Given the description of an element on the screen output the (x, y) to click on. 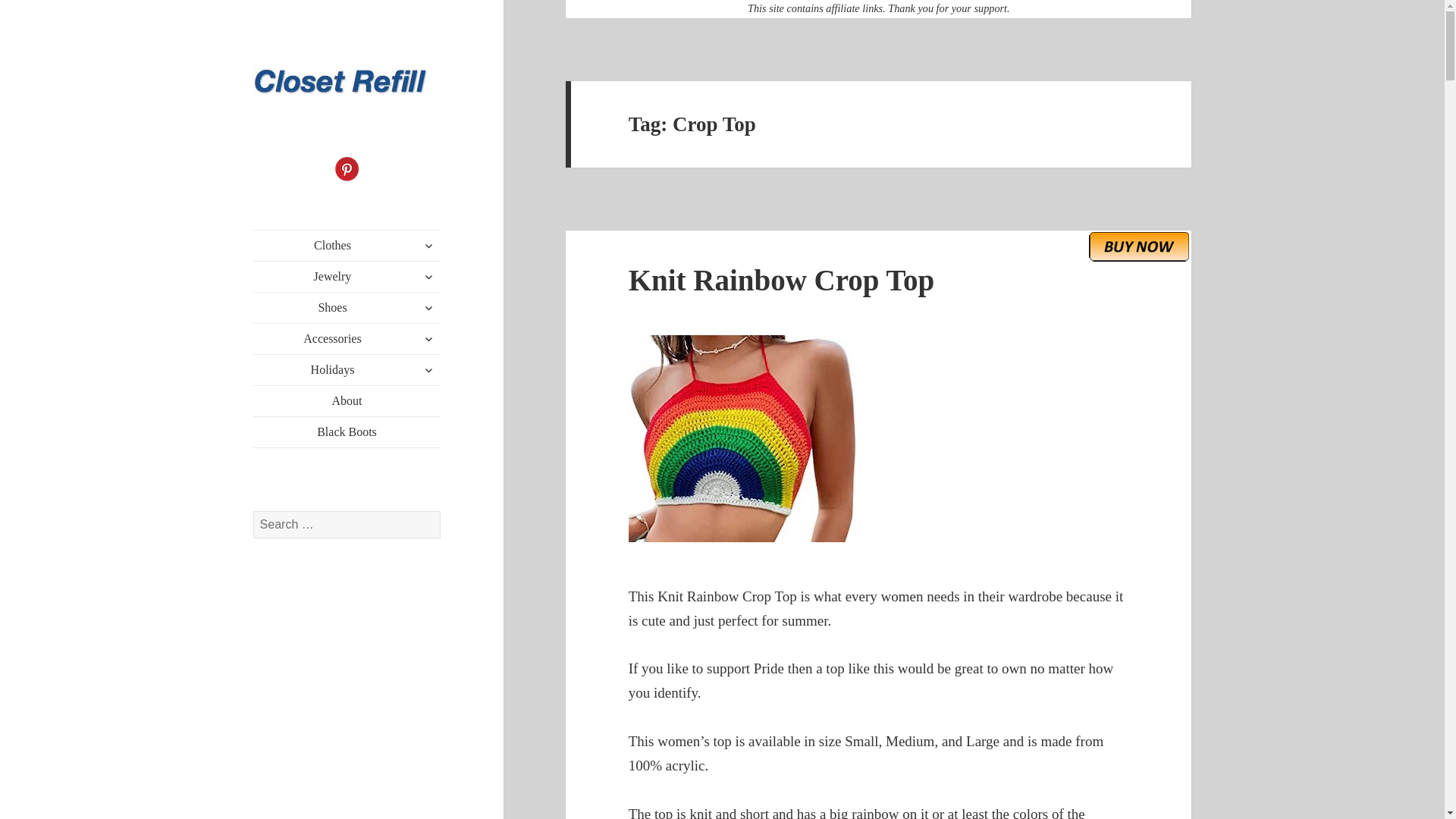
Clothes (347, 245)
expand child menu (428, 369)
Accessories (347, 338)
expand child menu (428, 338)
About (347, 400)
expand child menu (428, 245)
Jewelry (347, 276)
Shoes (347, 307)
Black Boots (347, 431)
expand child menu (428, 276)
expand child menu (428, 307)
buy Knit Rainbow Crop Top (1139, 246)
